Given the description of an element on the screen output the (x, y) to click on. 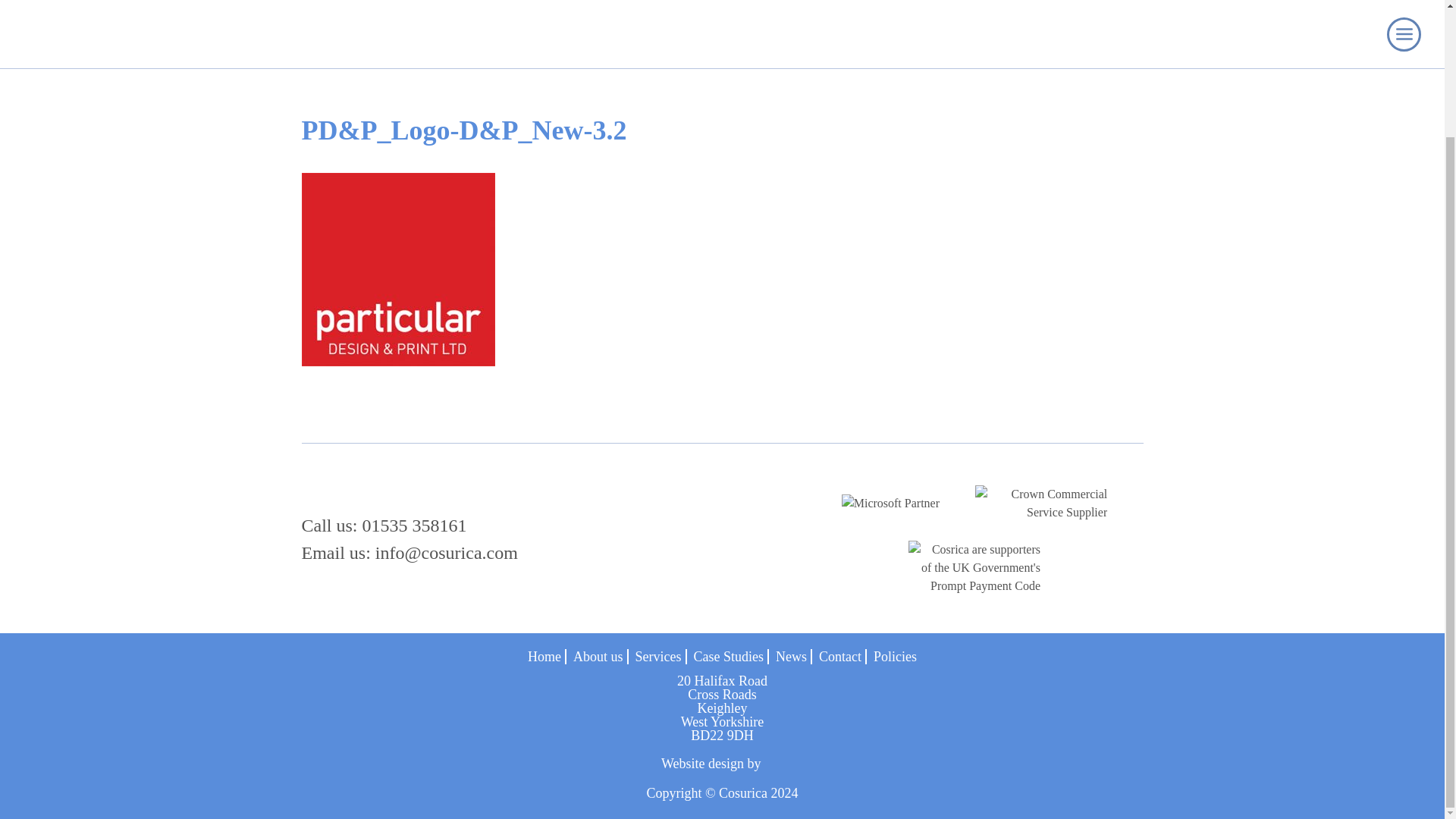
01535 358161 (937, 3)
Case Studies (379, 4)
LinkedIn (670, 484)
Home (317, 4)
Twitter (702, 484)
A Very Particular Kind of Service (509, 4)
Web Design, SEO, Online Marketing - Bradford (722, 763)
Cosurica (364, 489)
